Given the description of an element on the screen output the (x, y) to click on. 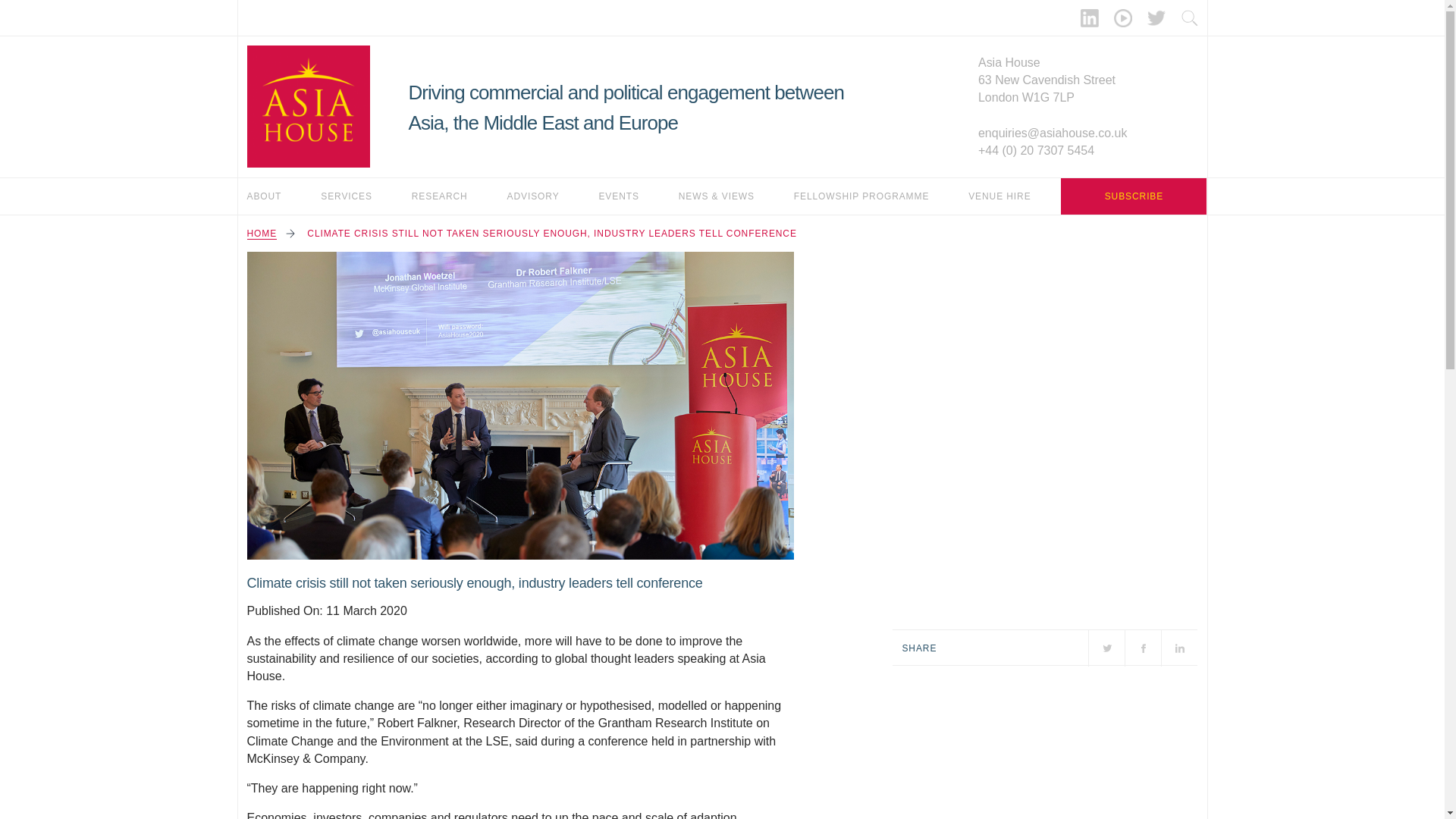
Asia House (308, 106)
FELLOWSHIP PROGRAMME (860, 195)
VENUE HIRE (999, 195)
ABOUT (264, 195)
ADVISORY (532, 195)
EVENTS (618, 195)
RESEARCH (439, 195)
SERVICES (346, 195)
